Given the description of an element on the screen output the (x, y) to click on. 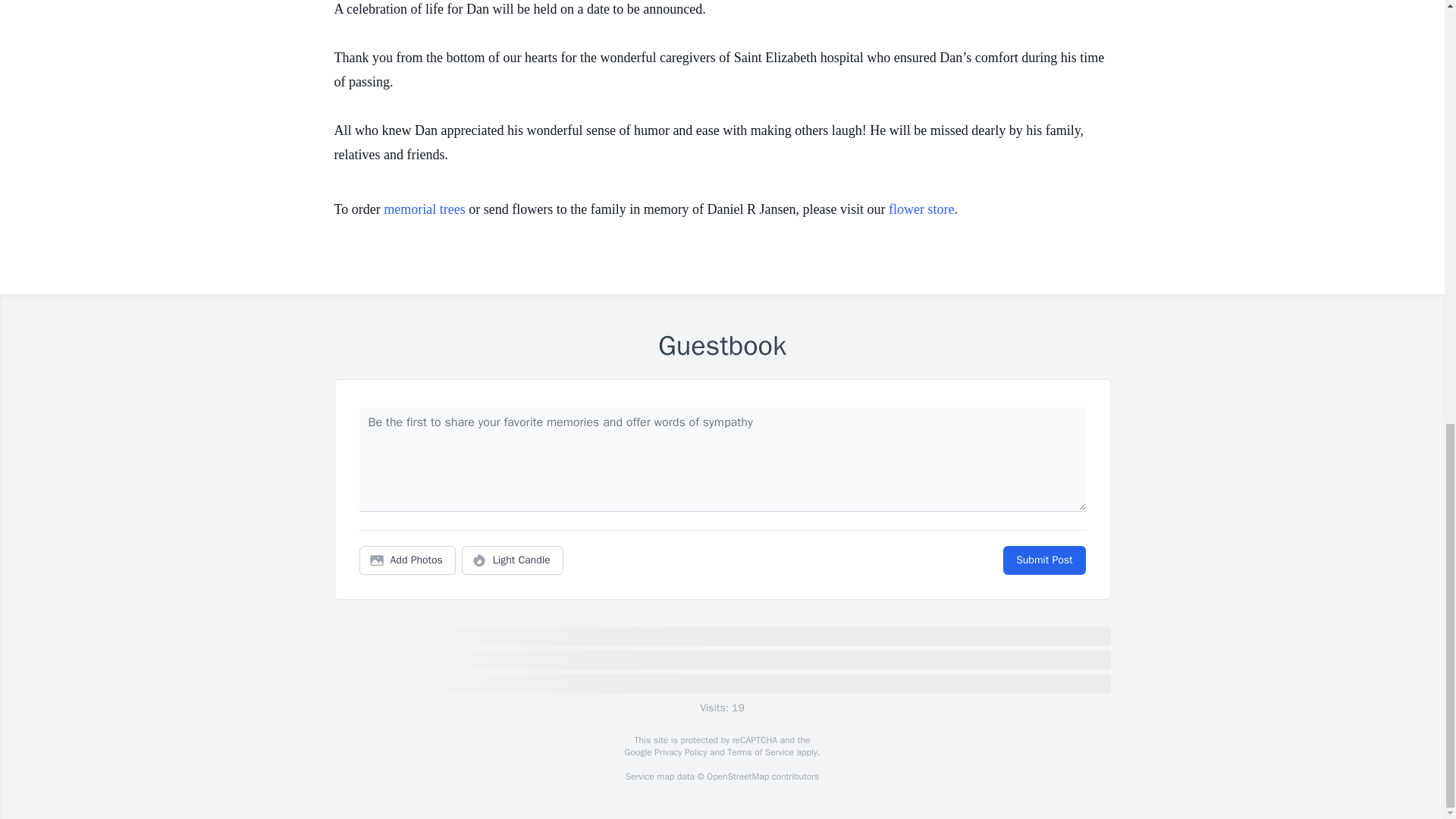
Submit Post (1043, 560)
Add Photos (407, 560)
Light Candle (512, 560)
flower store (920, 209)
OpenStreetMap (737, 776)
Privacy Policy (679, 752)
memorial trees (424, 209)
Terms of Service (759, 752)
